Given the description of an element on the screen output the (x, y) to click on. 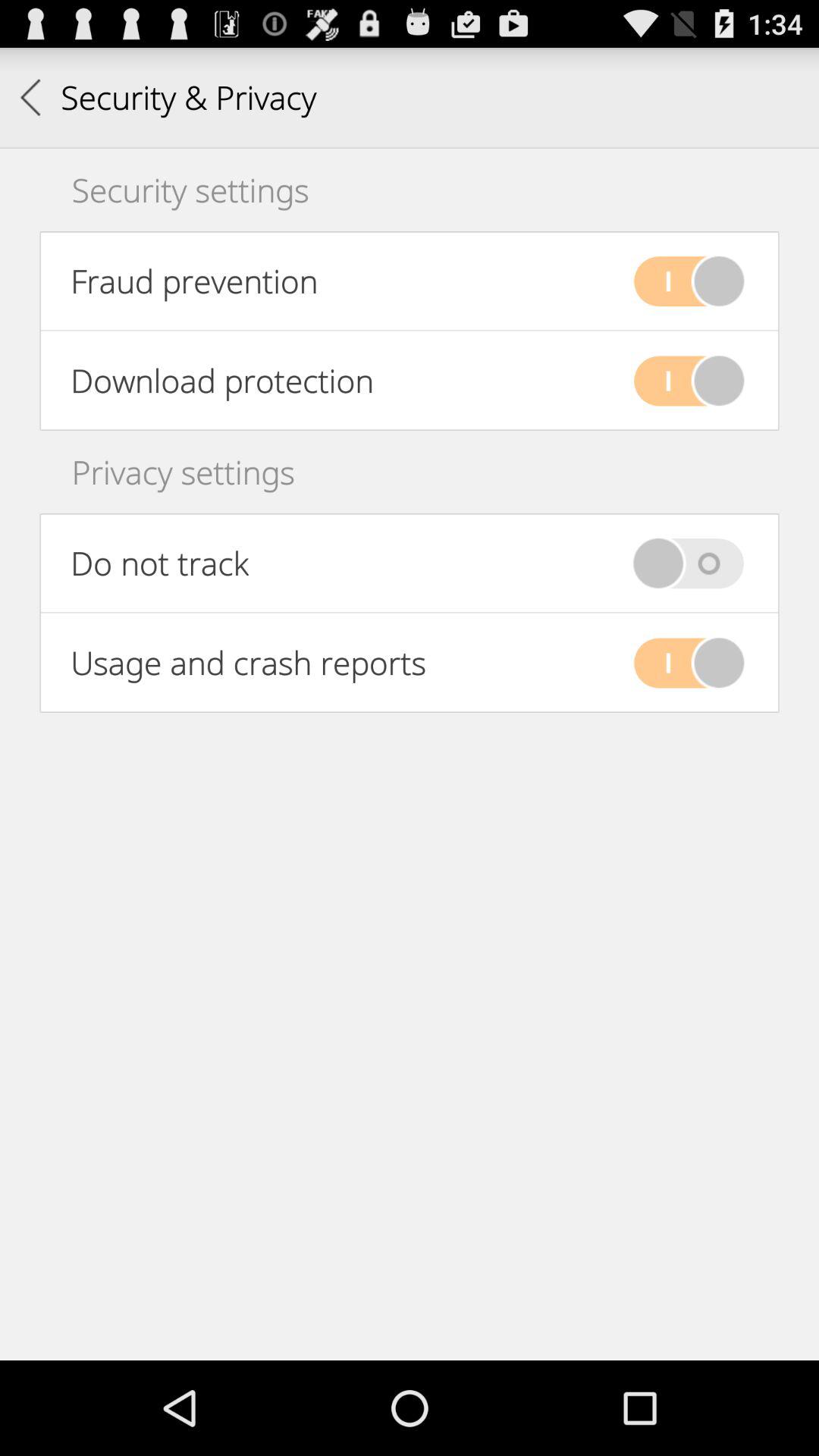
turn on item above the security settings icon (168, 97)
